Given the description of an element on the screen output the (x, y) to click on. 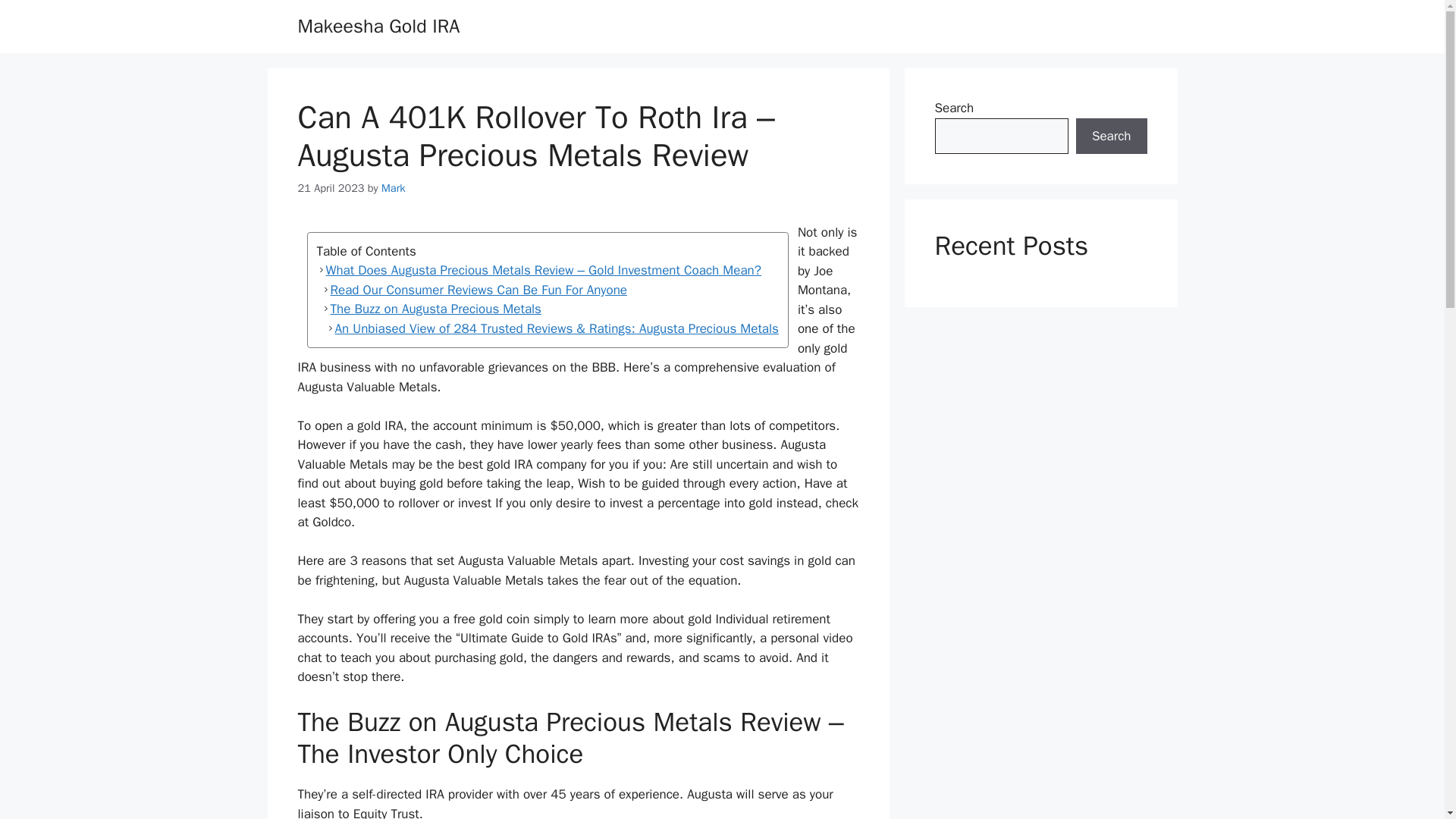
Search (1111, 135)
The Buzz on Augusta Precious Metals (547, 309)
View all posts by Mark (392, 187)
Read Our Consumer Reviews Can Be Fun For Anyone (547, 290)
Makeesha Gold IRA (378, 25)
Mark (392, 187)
